Given the description of an element on the screen output the (x, y) to click on. 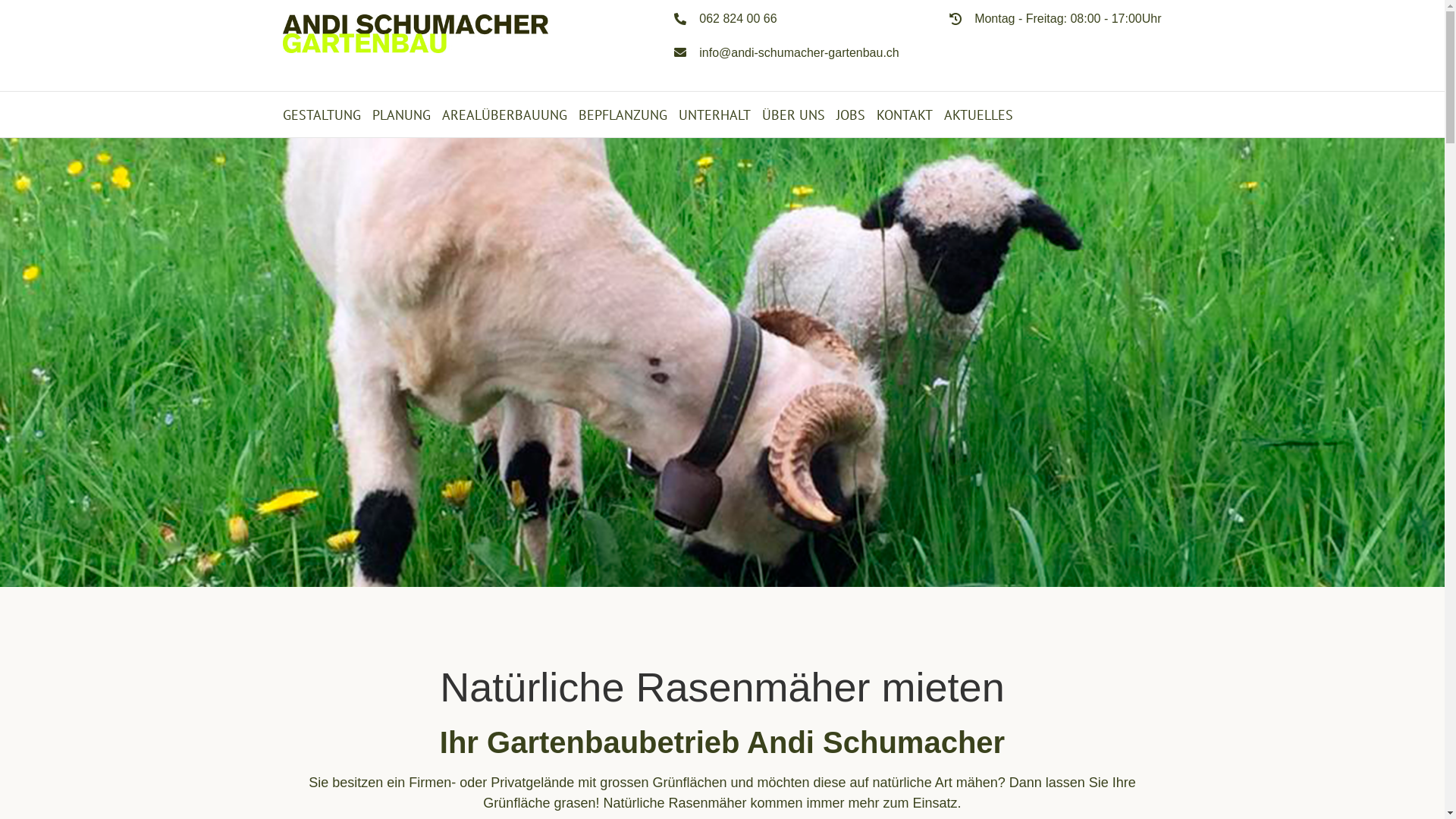
062 824 00 66 Element type: text (737, 18)
AKTUELLES Element type: text (977, 114)
KONTAKT Element type: text (904, 114)
PLANUNG Element type: text (400, 114)
BEPFLANZUNG Element type: text (621, 114)
info@andi-schumacher-gartenbau.ch Element type: text (799, 52)
GESTALTUNG Element type: text (321, 114)
UNTERHALT Element type: text (713, 114)
JOBS Element type: text (849, 114)
